Given the description of an element on the screen output the (x, y) to click on. 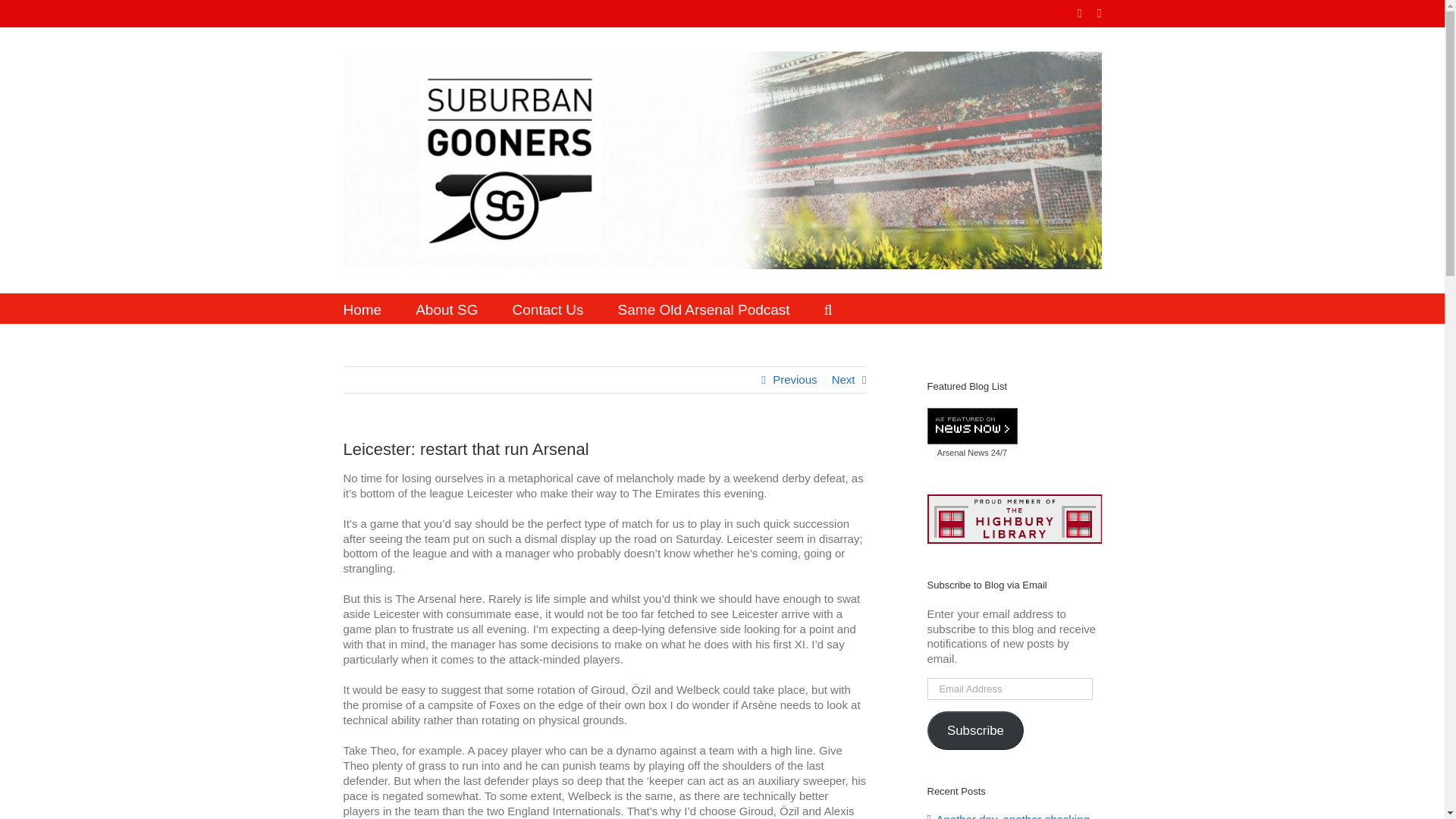
Previous (794, 379)
Next (843, 379)
Home (361, 308)
Same Old Arsenal Podcast (703, 308)
Contact Us (547, 308)
About SG (445, 308)
